Given the description of an element on the screen output the (x, y) to click on. 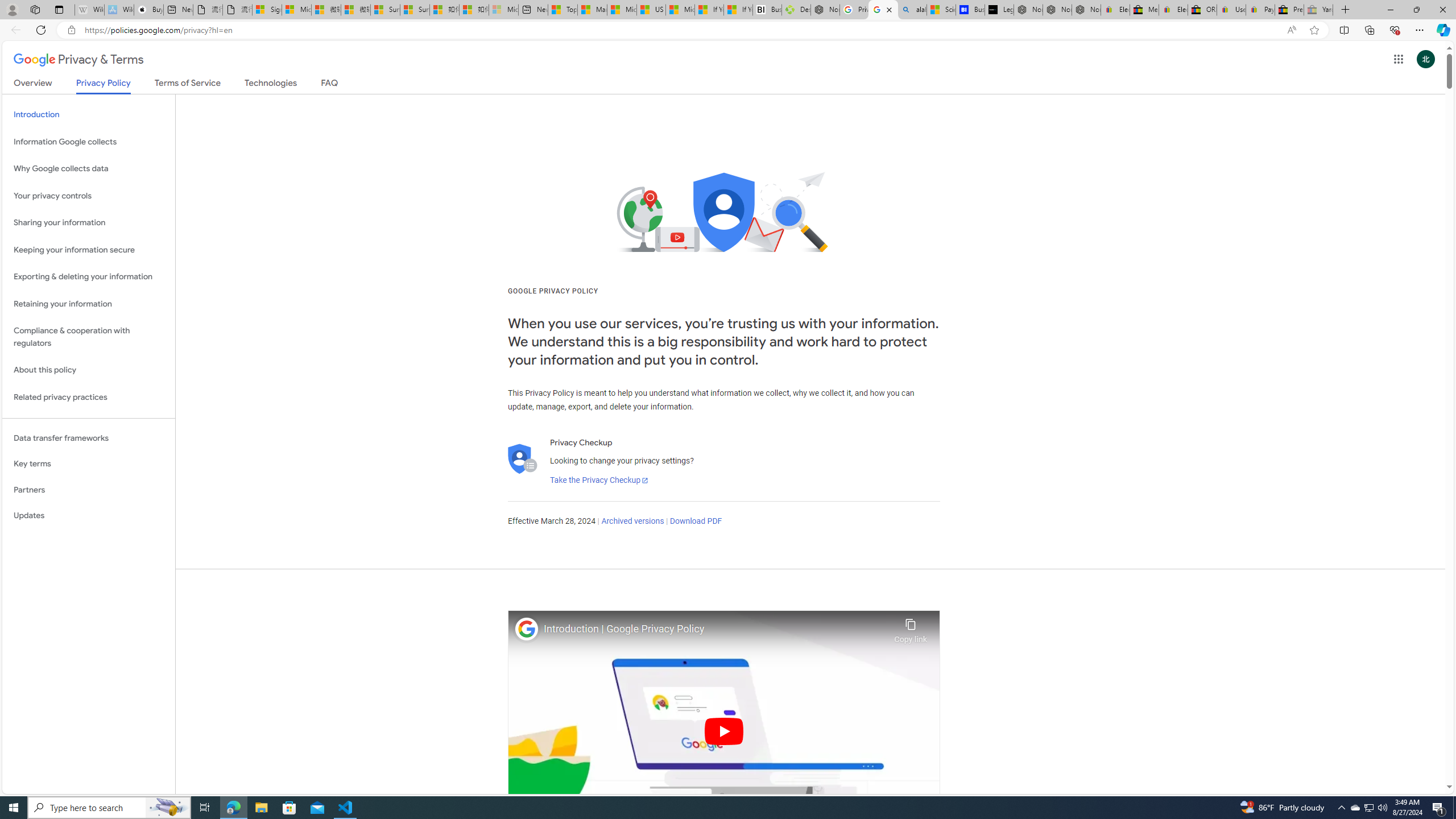
Sharing your information (88, 222)
Marine life - MSN (591, 9)
Compliance & cooperation with regulators (88, 337)
Play (724, 731)
Compliance & cooperation with regulators (88, 337)
Information Google collects (88, 141)
Why Google collects data (88, 168)
Introduction (88, 114)
Exporting & deleting your information (88, 276)
Take the Privacy Checkup (599, 480)
